Given the description of an element on the screen output the (x, y) to click on. 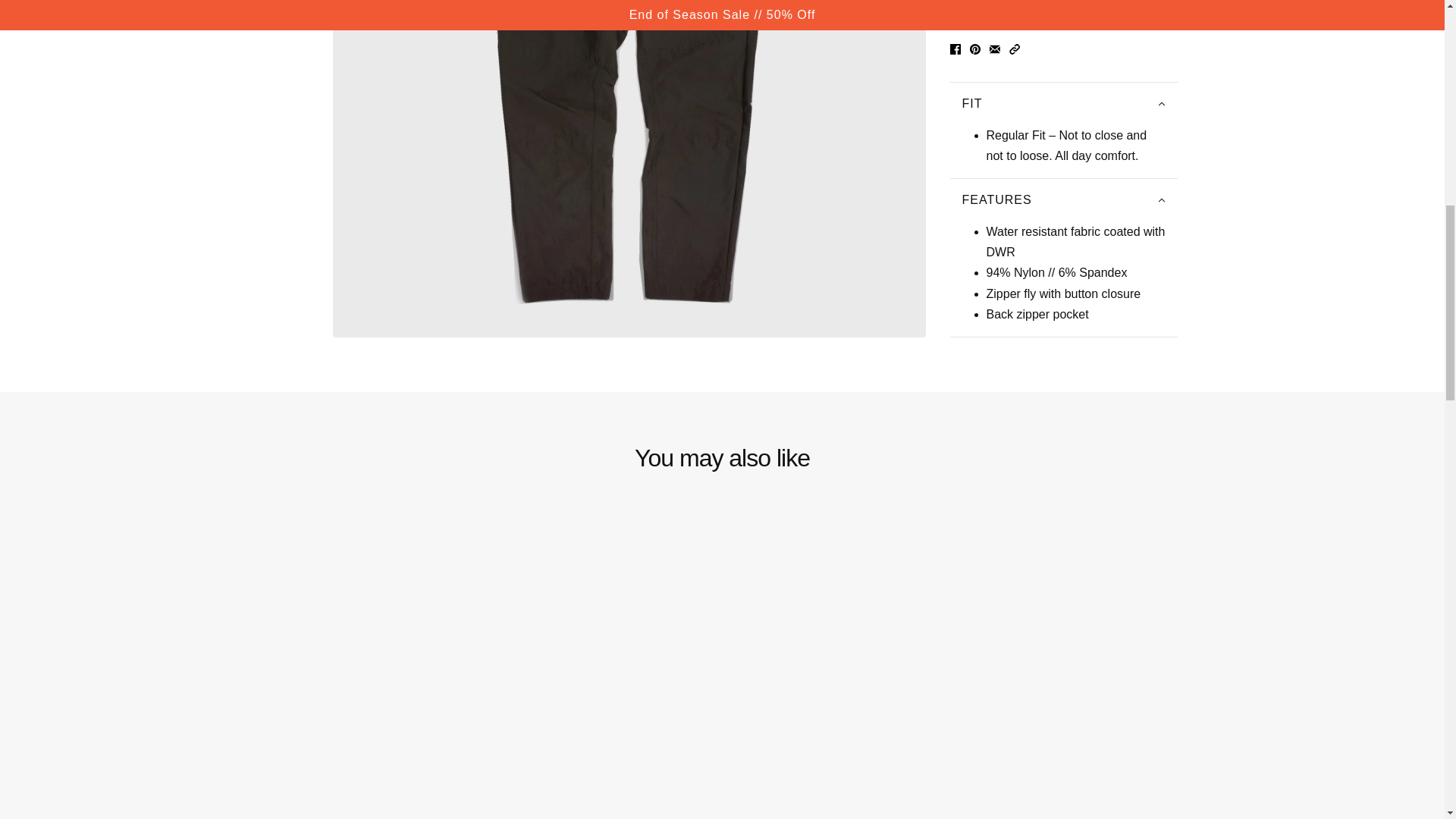
FIT (1062, 103)
